Given the description of an element on the screen output the (x, y) to click on. 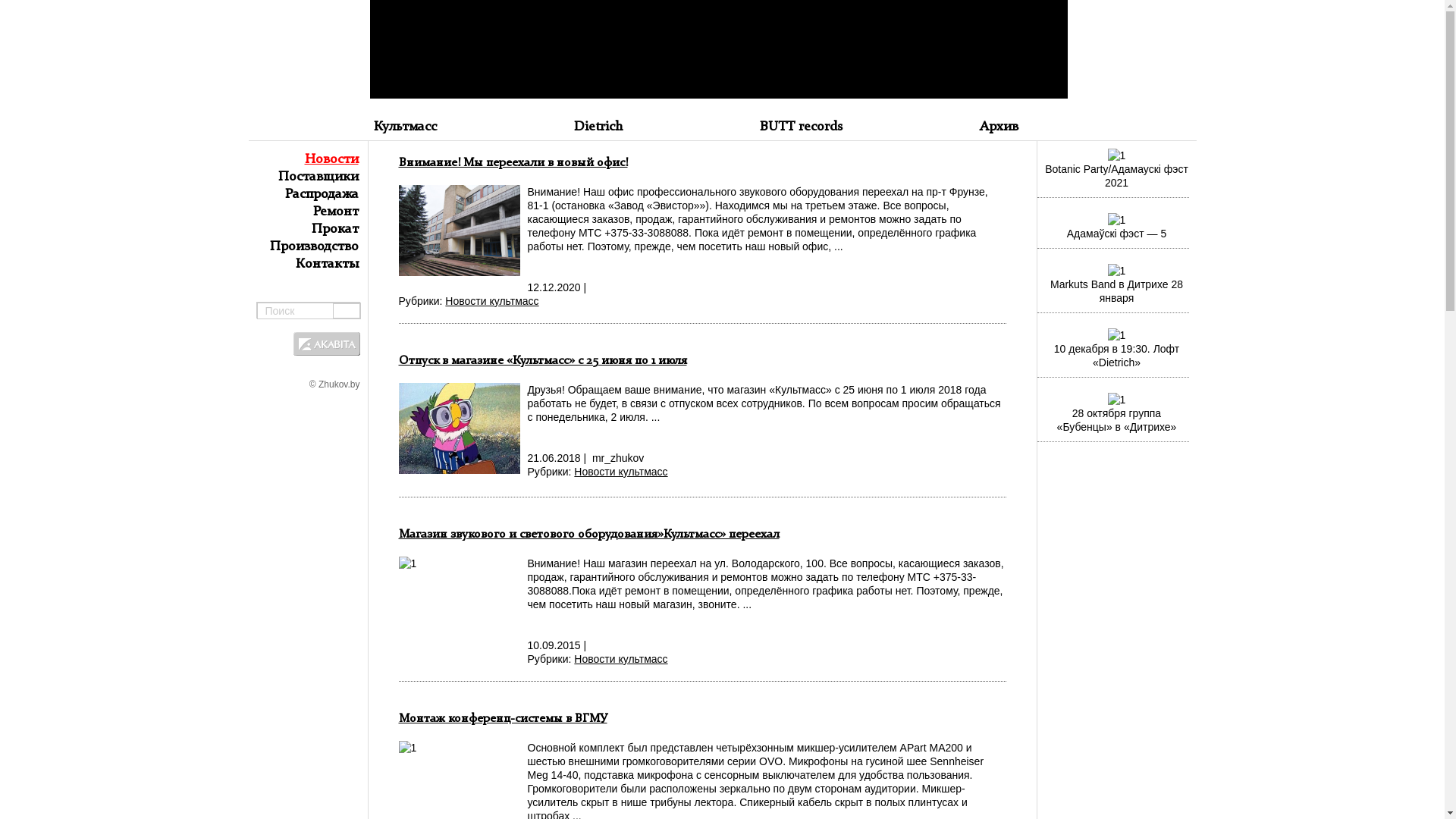
BUTT records Element type: text (800, 126)
Dietrich Element type: text (597, 126)
